Given the description of an element on the screen output the (x, y) to click on. 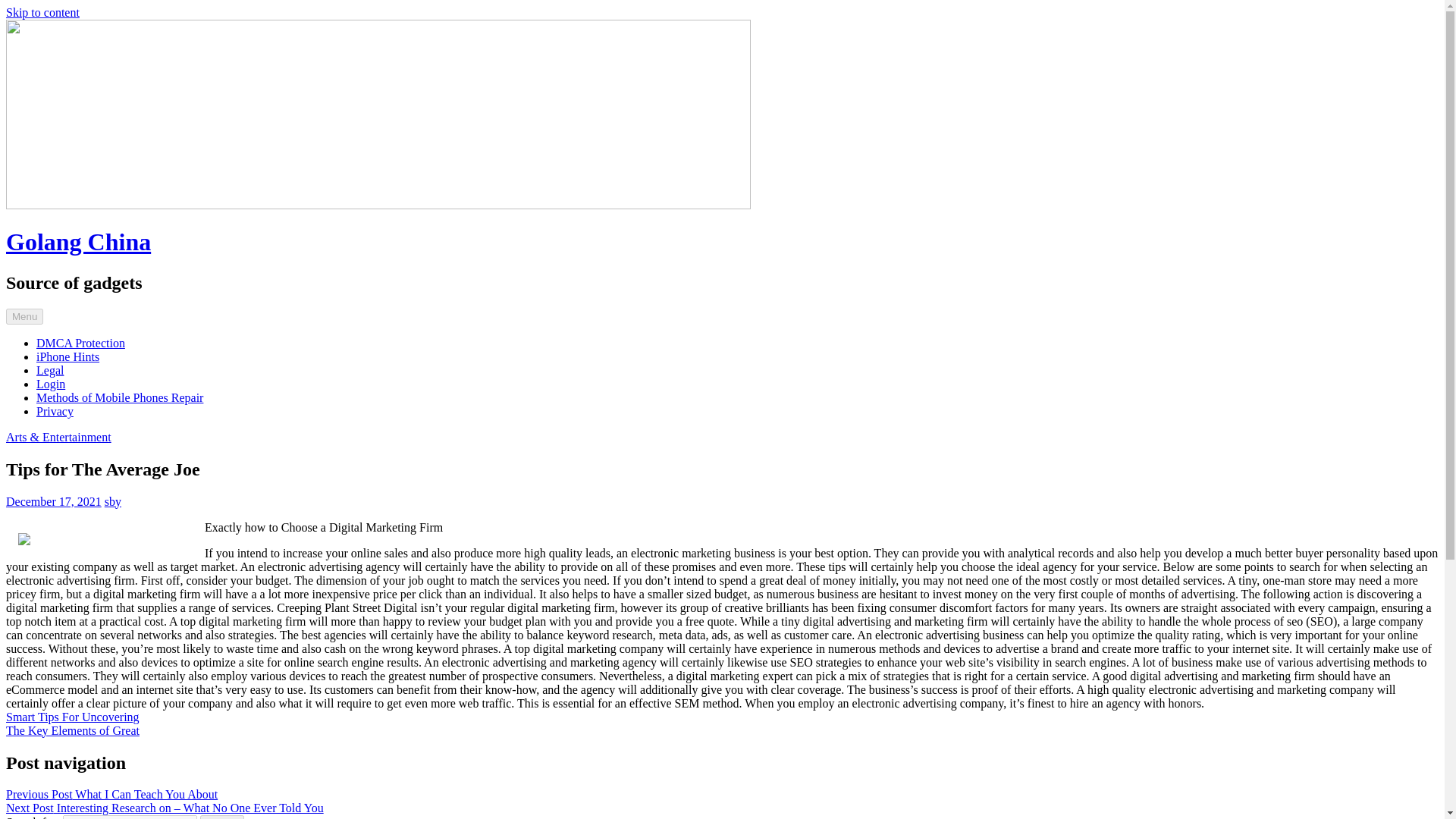
DMCA Protection (80, 342)
The Key Elements of Great (72, 730)
Golang China (78, 241)
Login (50, 383)
Smart Tips For Uncovering (72, 716)
Search (222, 816)
Search (222, 816)
Menu (24, 316)
December 17, 2021 (53, 501)
Skip to content (42, 11)
Search (222, 816)
Previous Post What I Can Teach You About (110, 793)
sby (112, 501)
Legal (50, 369)
Privacy (55, 410)
